Given the description of an element on the screen output the (x, y) to click on. 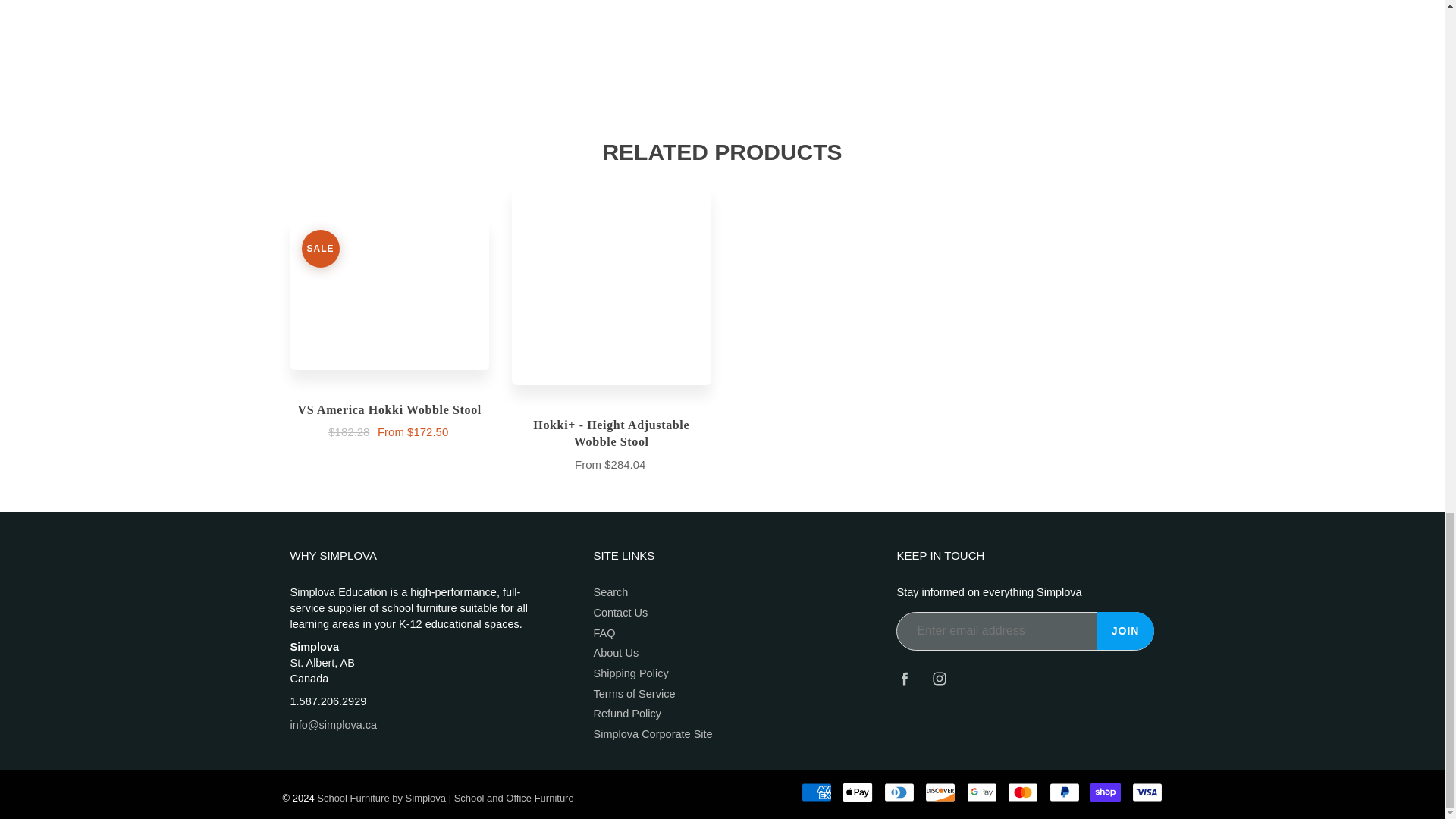
Apple Pay (857, 792)
PayPal (1064, 792)
Mastercard (1022, 792)
Diners Club (898, 792)
Discover (939, 792)
American Express (816, 792)
Shop Pay (1105, 792)
Visa (1146, 792)
Google Pay (981, 792)
